Given the description of an element on the screen output the (x, y) to click on. 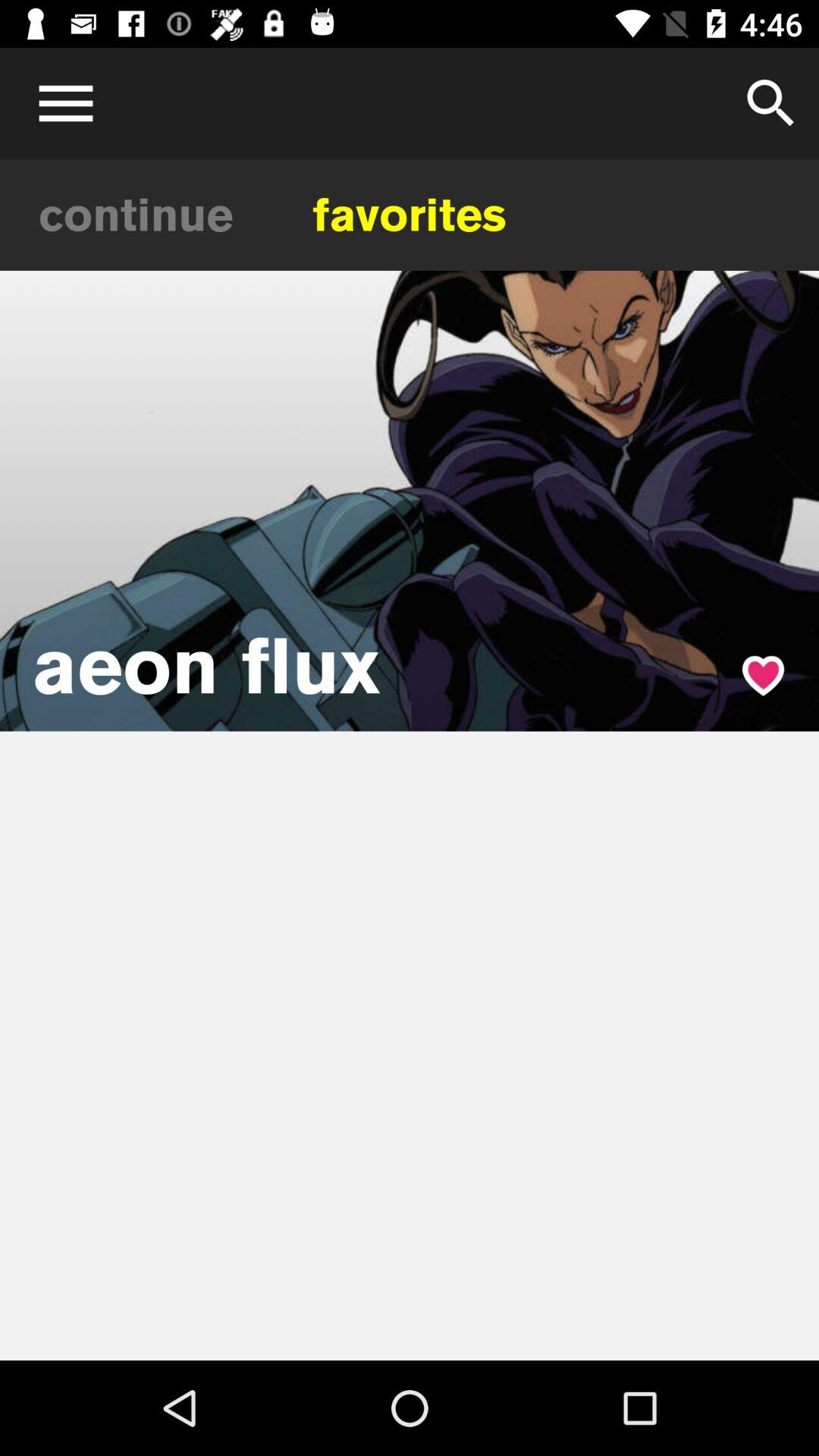
add to favorite (763, 675)
